Given the description of an element on the screen output the (x, y) to click on. 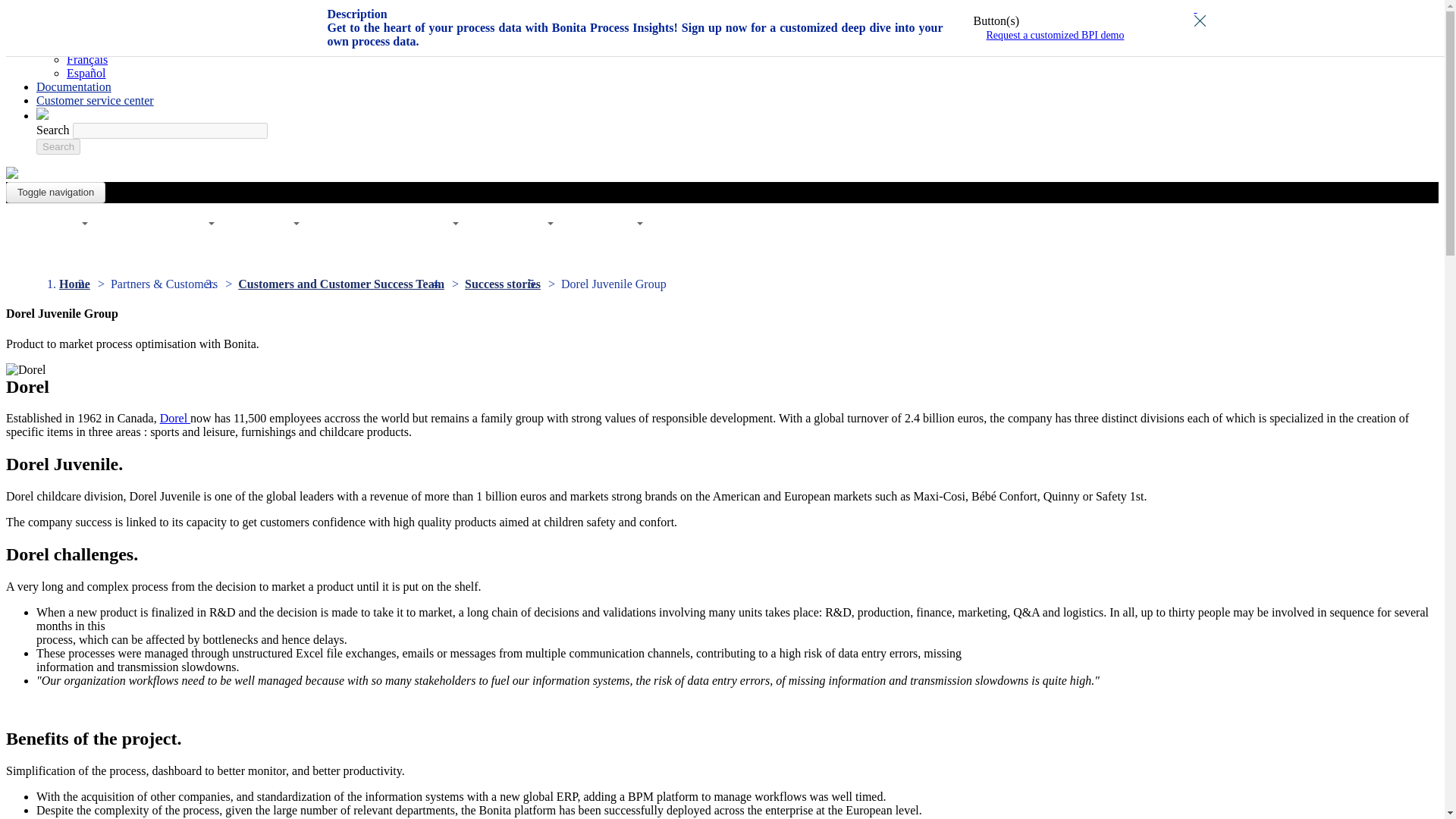
Documentation (74, 86)
Community (65, 18)
Search (58, 146)
Home (11, 174)
Request a customized BPI demo (1055, 35)
Language (60, 31)
Toggle navigation (54, 192)
Customer service center (95, 100)
English (84, 45)
